Given the description of an element on the screen output the (x, y) to click on. 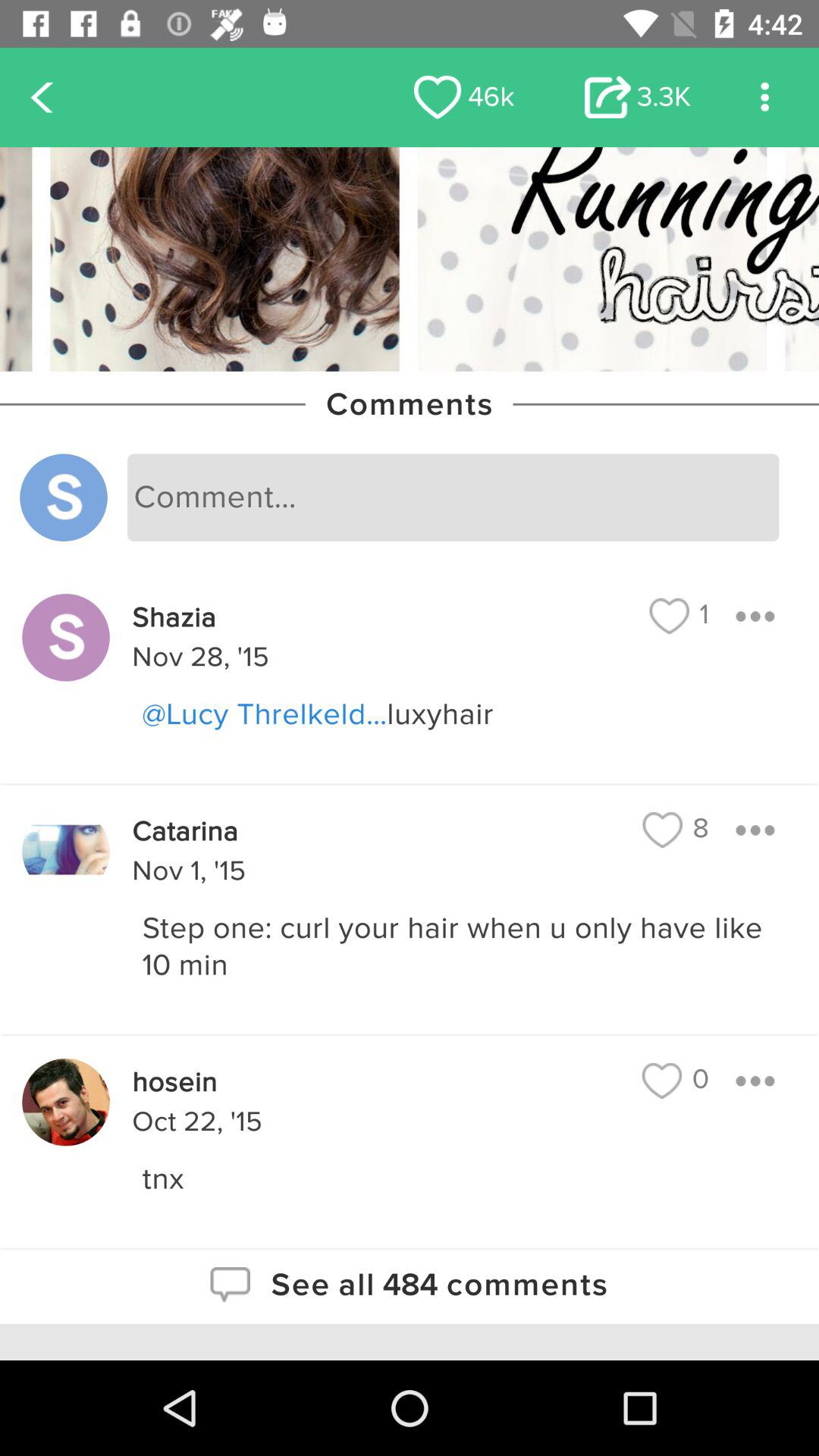
tap icon above the tnx (675, 1080)
